Given the description of an element on the screen output the (x, y) to click on. 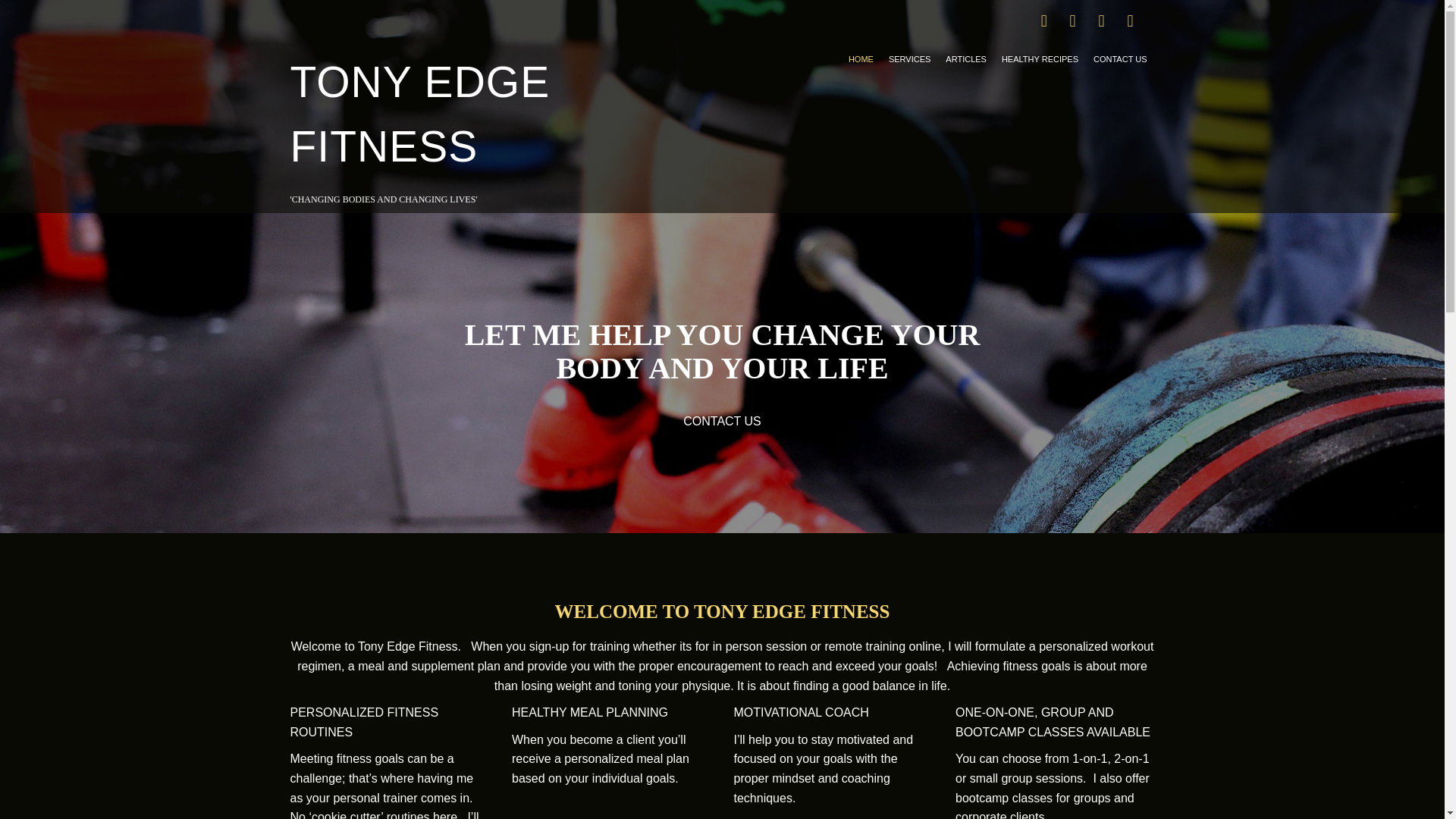
TWITTER (1072, 22)
FACEBOOK (1043, 22)
LINKEDIN (1129, 22)
TONY EDGE FITNESS (419, 114)
CONTACT US (1120, 59)
HEALTHY RECIPES (1040, 59)
Instagram (1101, 22)
HOME (860, 59)
Facebook (1043, 22)
SERVICES (908, 59)
Twitter (1072, 22)
LinkedIn (1129, 22)
ARTICLES (965, 59)
INSTAGRAM (1101, 22)
